Given the description of an element on the screen output the (x, y) to click on. 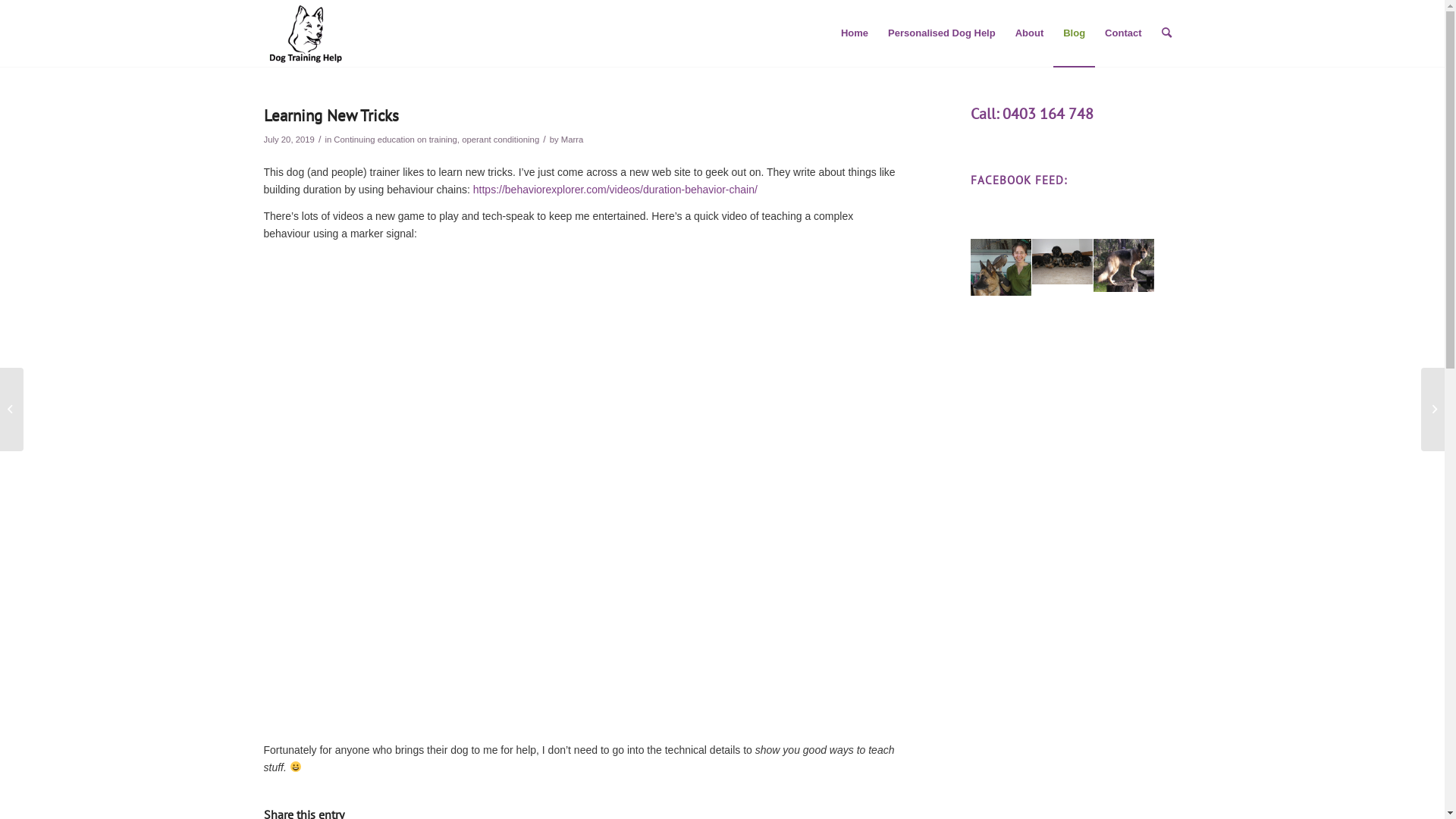
Marra Element type: text (572, 139)
Personalised Dog Help Element type: text (941, 33)
Home Element type: text (854, 33)
Continuing education on training Element type: text (395, 139)
Call: 0403 164 748 Element type: text (1031, 113)
https://behaviorexplorer.com/videos/duration-behavior-chain/ Element type: text (615, 189)
A PORTL Exercise: Errorless teaching of a conditional chain Element type: hover (579, 488)
operant conditioning Element type: text (500, 139)
Contact Element type: text (1123, 33)
About Element type: text (1029, 33)
Blog Element type: text (1074, 33)
